Given the description of an element on the screen output the (x, y) to click on. 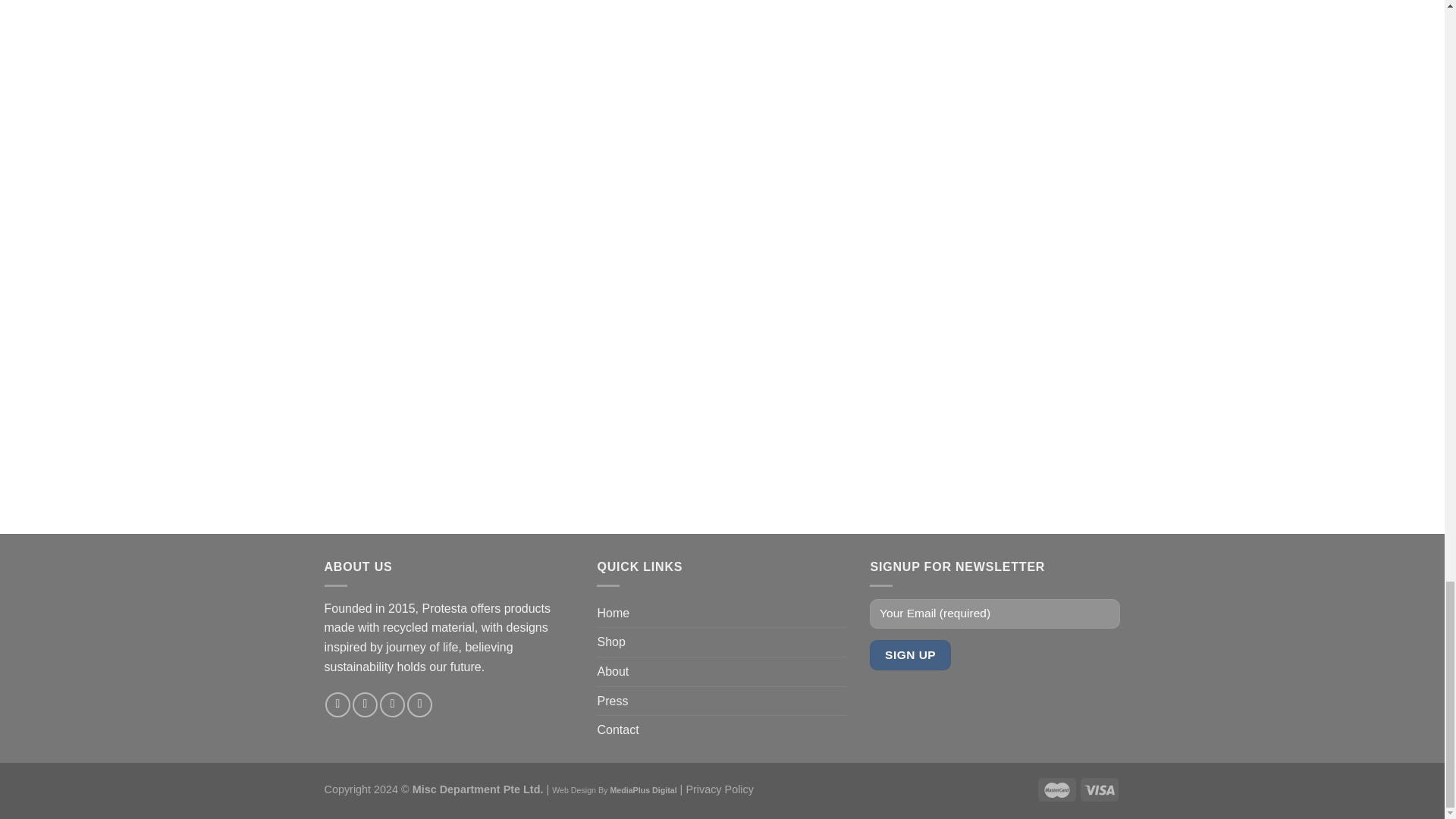
Follow on Instagram (364, 704)
Sign Up (909, 654)
Follow on Facebook (337, 704)
Home (612, 613)
Call us (419, 704)
Shop (610, 642)
Send us an email (392, 704)
